Given the description of an element on the screen output the (x, y) to click on. 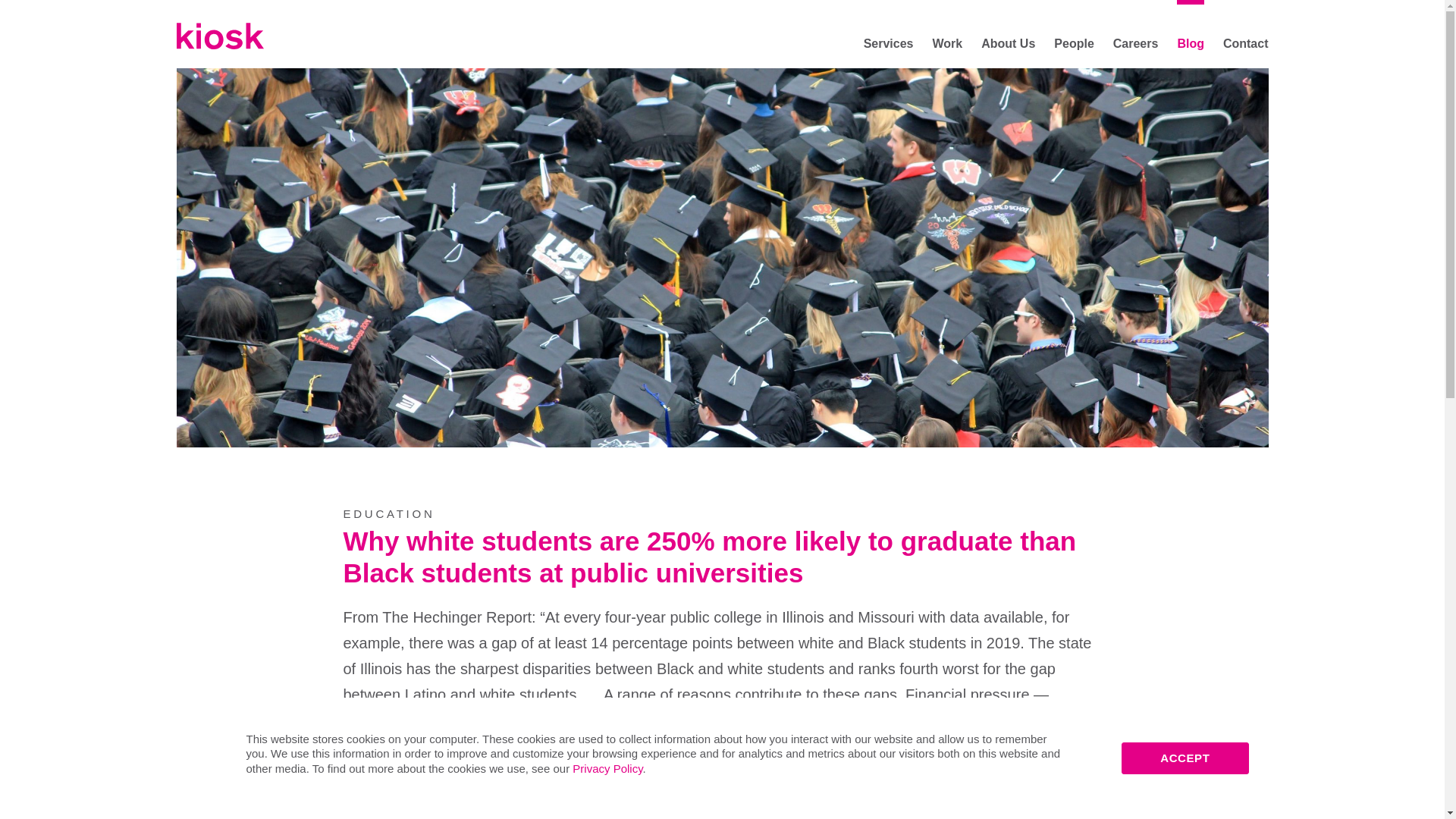
About Us (1008, 42)
Kiosk (219, 35)
Home (219, 35)
Services (888, 42)
Skip to main content (185, 9)
Privacy Policy (607, 767)
Work (946, 42)
EDUCATION (387, 513)
View the full article from The Hechinger Report. (501, 812)
